Given the description of an element on the screen output the (x, y) to click on. 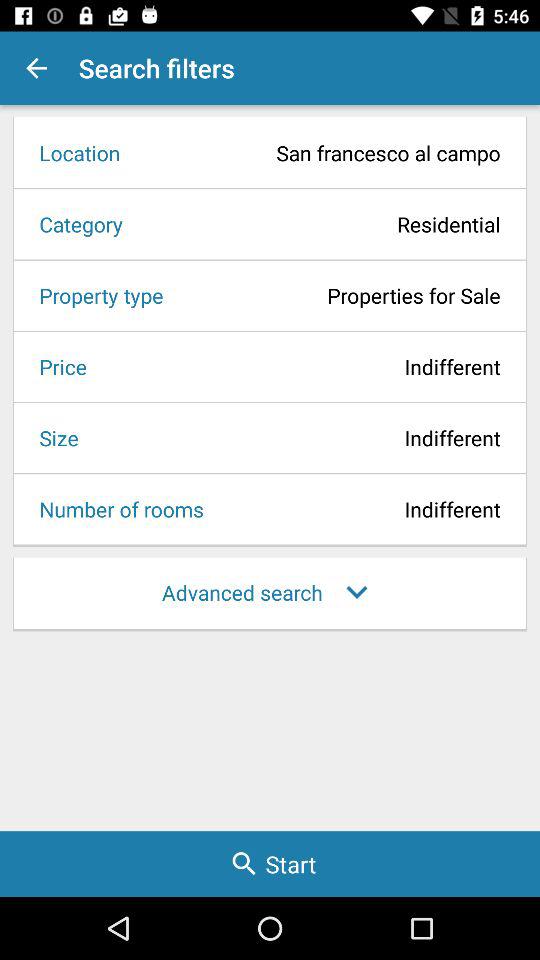
turn on the advanced search item (269, 592)
